Given the description of an element on the screen output the (x, y) to click on. 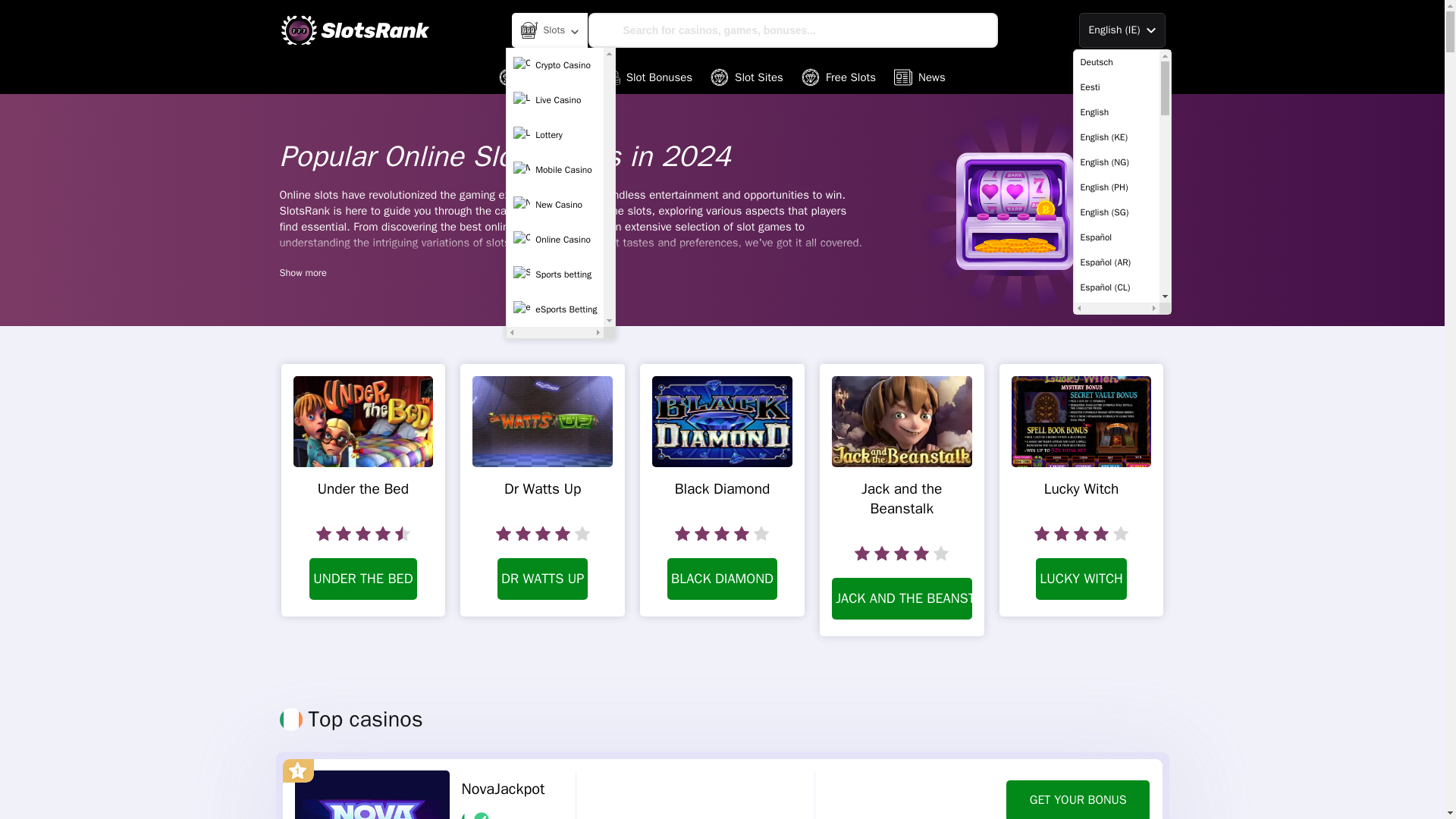
Indonesia (1116, 412)
Live Casino (554, 99)
Sports betting (554, 274)
English (1116, 112)
Eesti (1116, 87)
Nederlands (1116, 562)
Online Casino (554, 239)
Suomi (1116, 738)
Magyar (1116, 512)
Lottery (554, 134)
Svenska (1116, 763)
eSports Betting (554, 308)
Mobile Casino (554, 169)
Italiano (1116, 437)
Crypto Casino (554, 64)
